Given the description of an element on the screen output the (x, y) to click on. 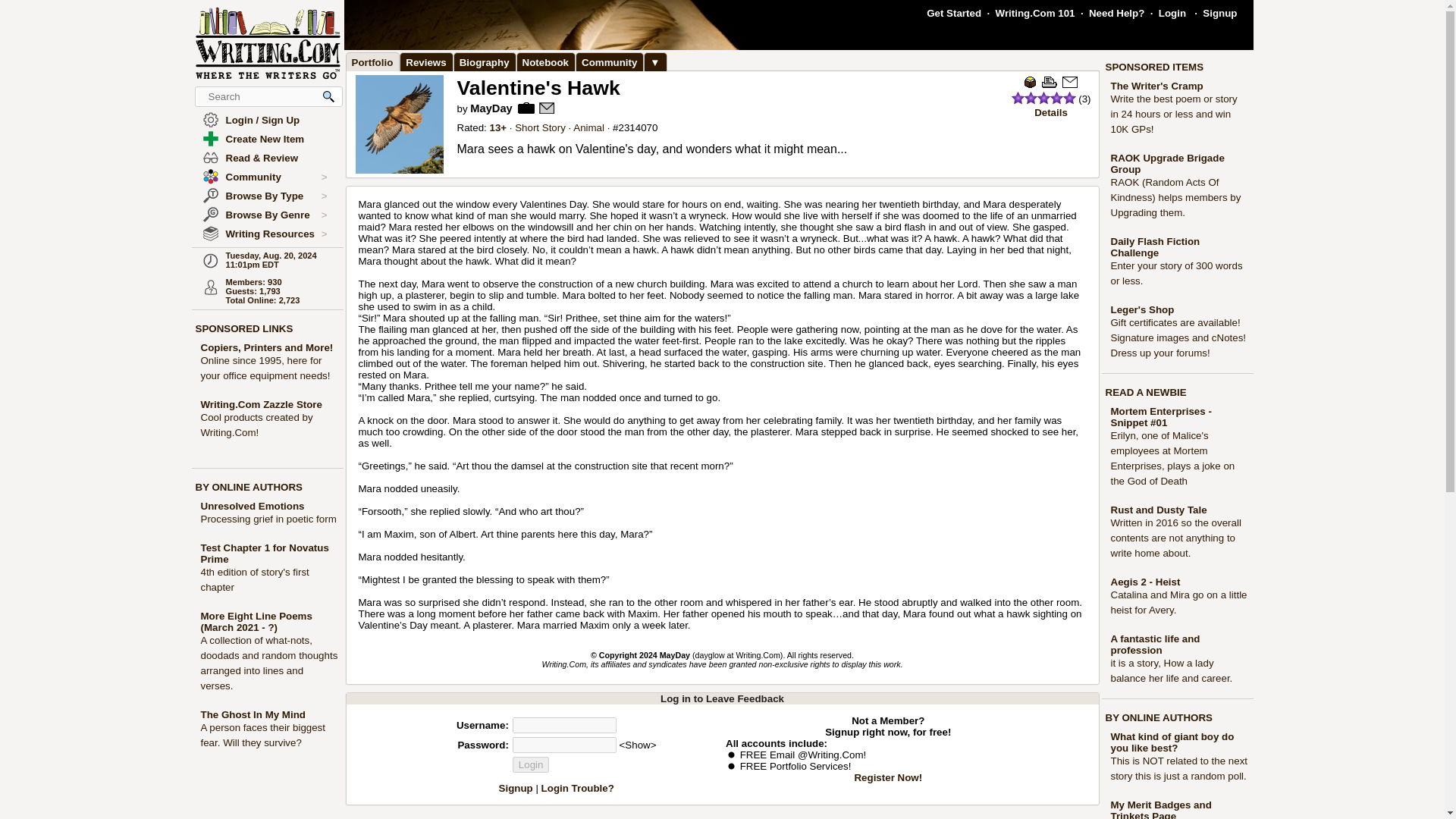
Writing.Com 101 (1035, 12)
Get Started (953, 12)
Signup (1219, 12)
Login (531, 764)
Create New Item (264, 138)
Login (1172, 12)
Magnify (328, 96)
Need Help? (1116, 12)
